Given the description of an element on the screen output the (x, y) to click on. 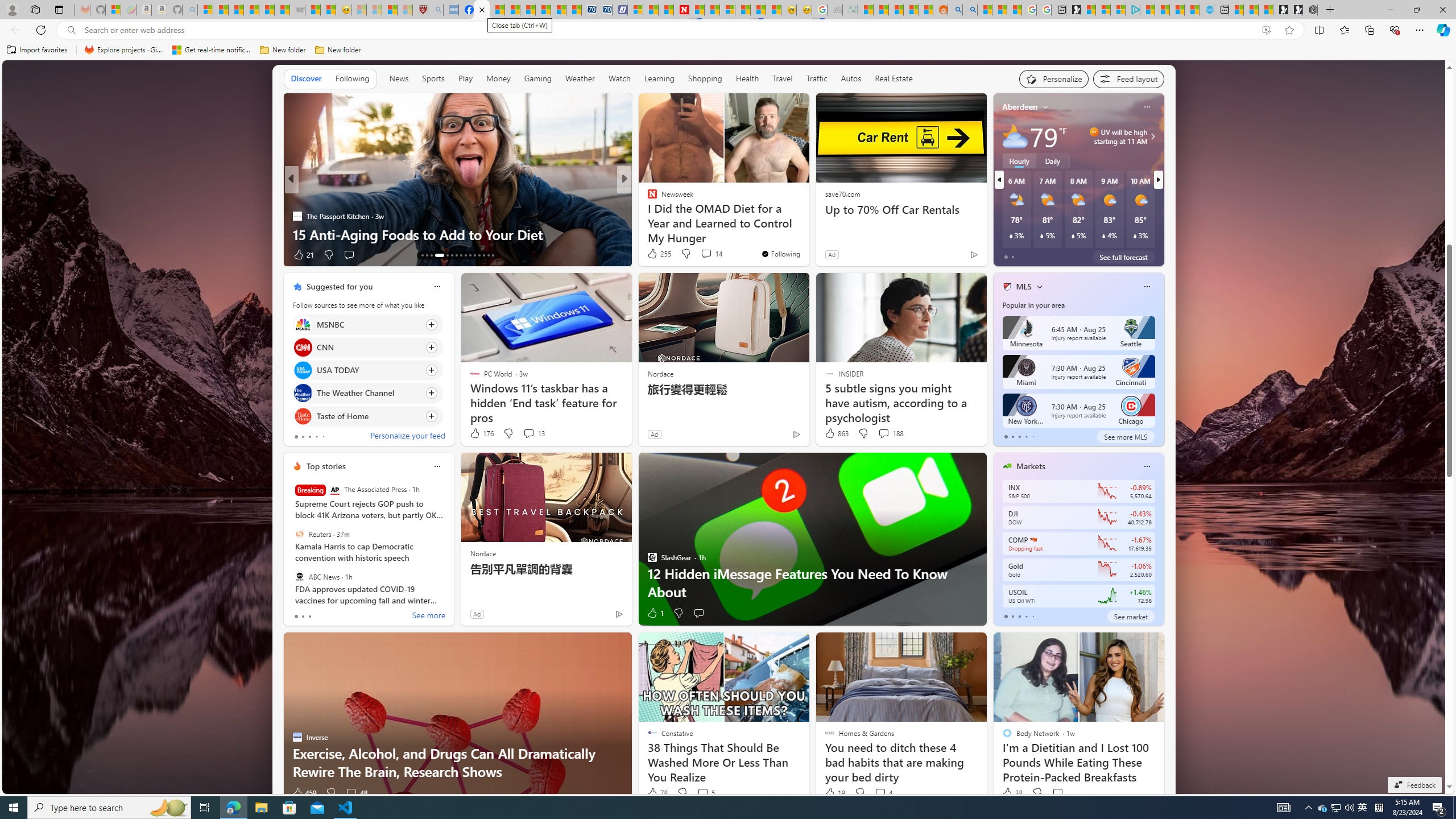
Traffic (816, 78)
View comments 5 Comment (705, 792)
Health (746, 78)
New Report Confirms 2023 Was Record Hot | Watch (266, 9)
The Weather Channel (302, 393)
Favorites bar (728, 49)
10 hidden Windows 11 features you wish you knew earlier (807, 225)
